Given the description of an element on the screen output the (x, y) to click on. 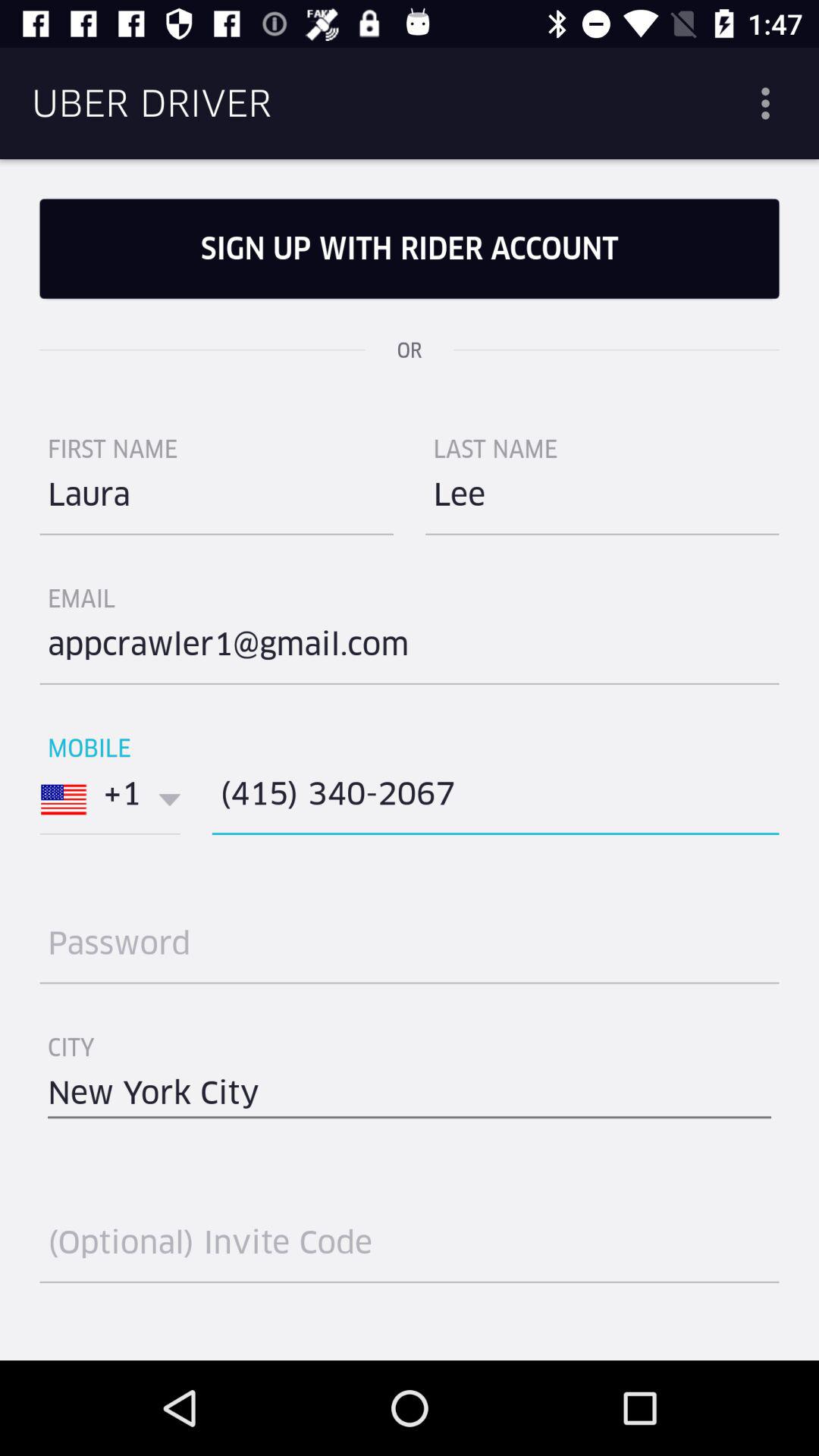
flip to laura item (216, 500)
